Given the description of an element on the screen output the (x, y) to click on. 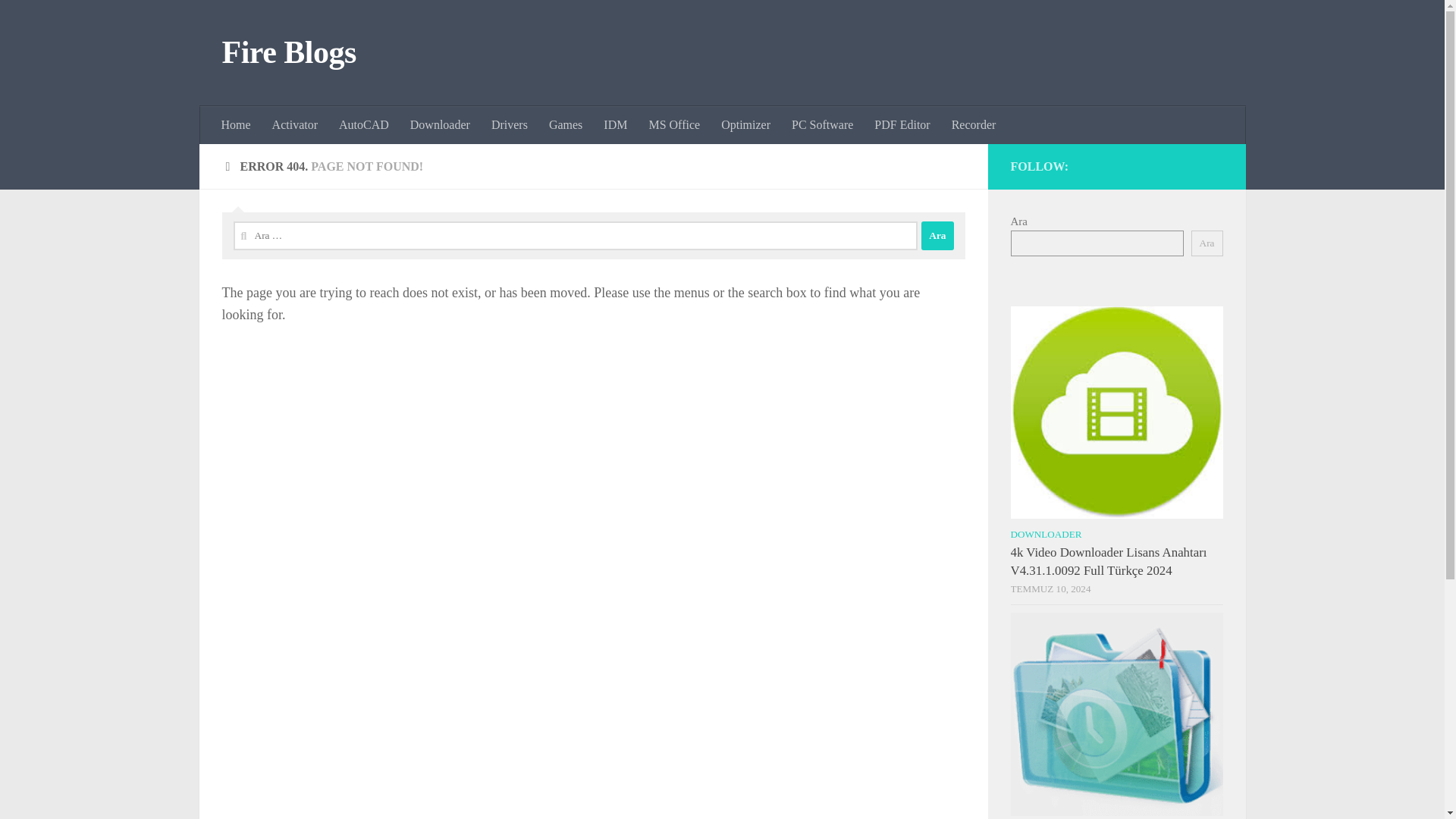
Home (236, 125)
Skip to content (59, 20)
AutoCAD (363, 125)
Activator (295, 125)
PDF Editor (901, 125)
Ara (937, 235)
Drivers (509, 125)
MS Office (673, 125)
Fire Blogs (288, 53)
PC Software (821, 125)
Optimizer (745, 125)
Ara (1207, 243)
Downloader (439, 125)
Games (565, 125)
DOWNLOADER (1045, 533)
